Given the description of an element on the screen output the (x, y) to click on. 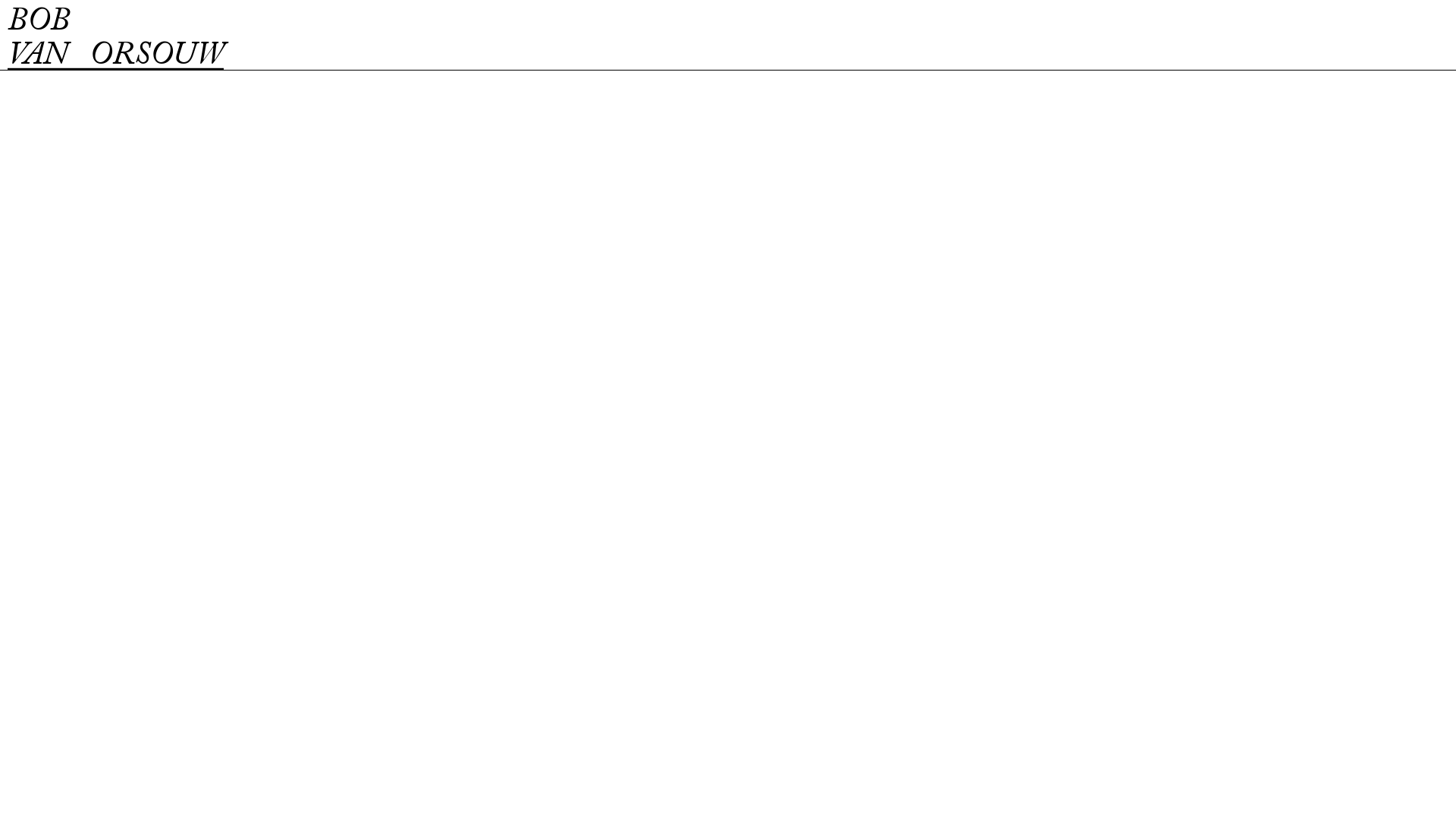
BOB
VAN
ORSOUW Element type: text (115, 39)
